Given the description of an element on the screen output the (x, y) to click on. 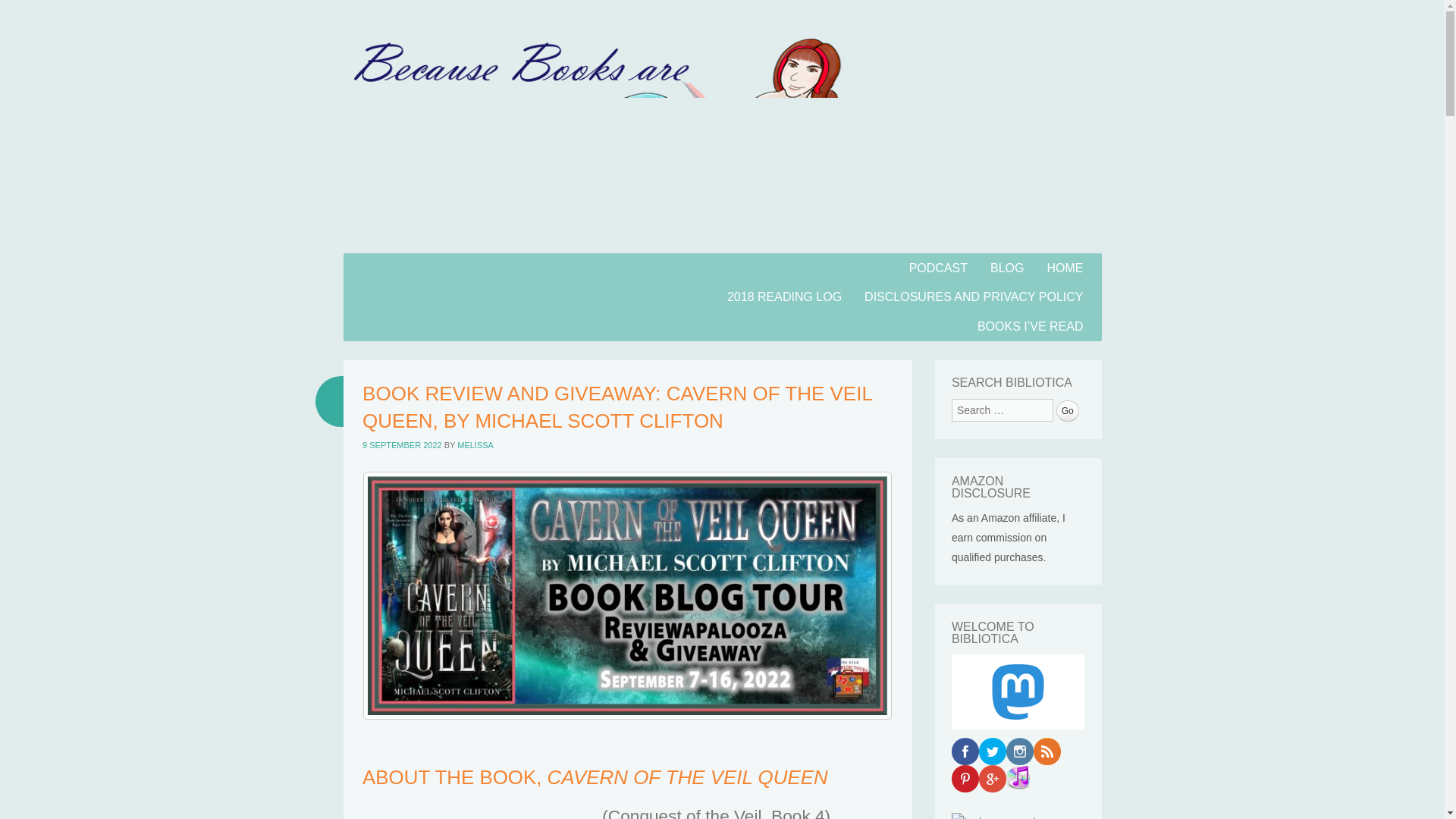
Go (1067, 410)
Bibliotica (430, 295)
Bibliotica (430, 295)
BLOG (1006, 267)
9 SEPTEMBER 2022 (402, 444)
PODCAST (938, 267)
DISCLOSURES AND PRIVACY POLICY (973, 297)
2018 READING LOG (784, 297)
Skip to content (382, 262)
MELISSA (475, 444)
07:00 (402, 444)
View all posts by Melissa (475, 444)
HOME (1064, 267)
Skip to content (382, 262)
Bibliotica (721, 243)
